Given the description of an element on the screen output the (x, y) to click on. 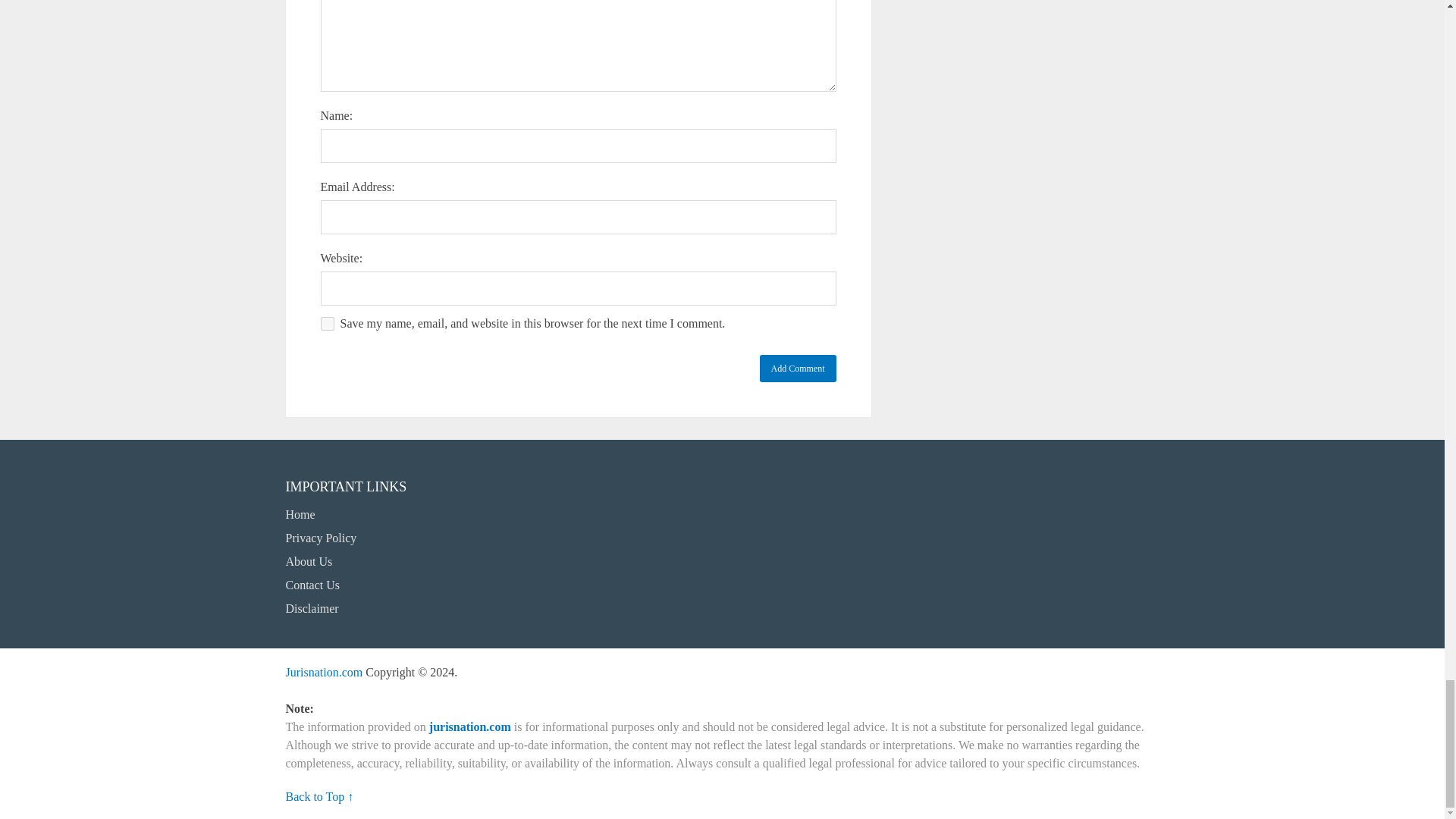
yes (326, 323)
Add Comment (797, 368)
